Given the description of an element on the screen output the (x, y) to click on. 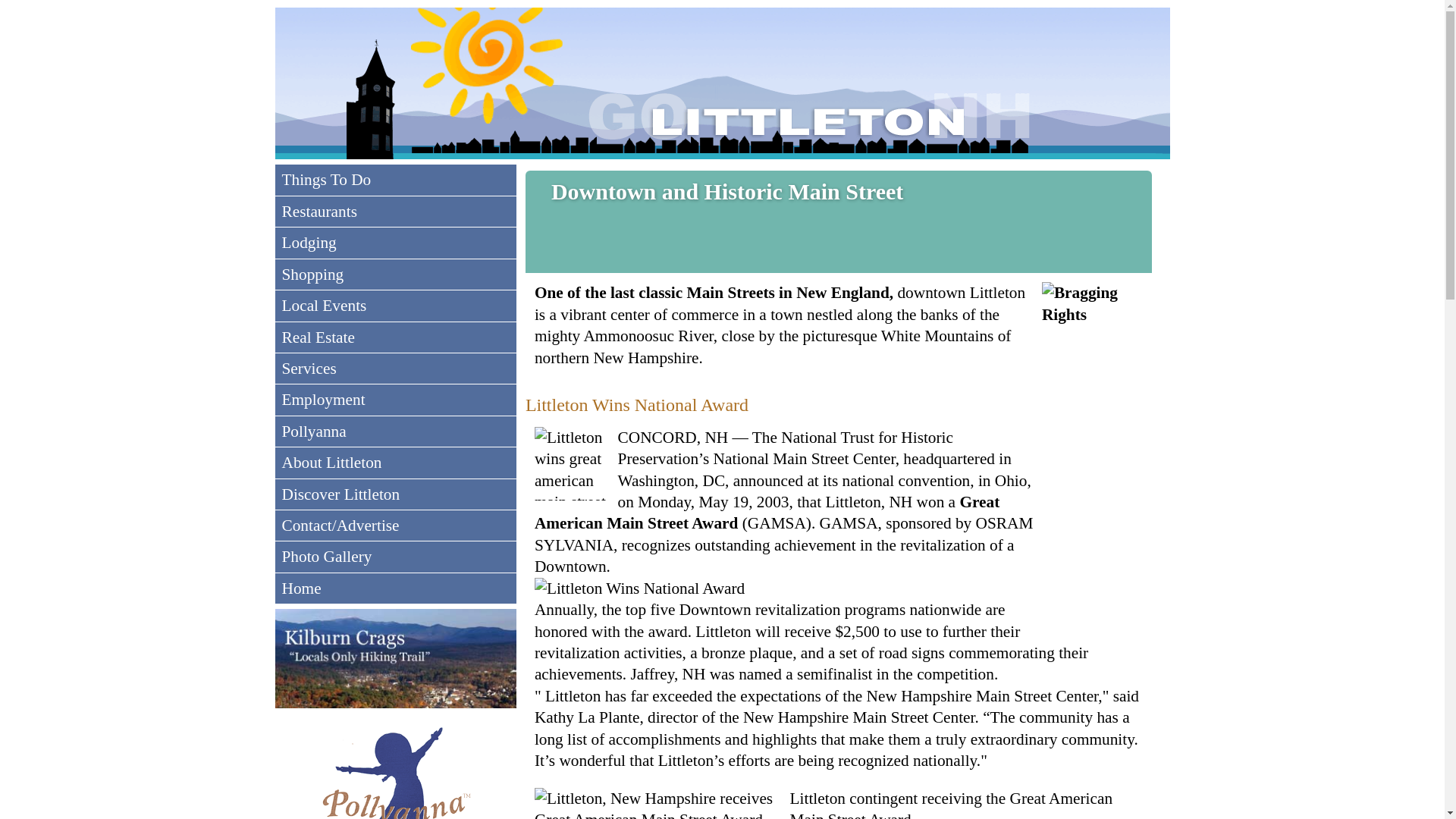
Services in Littleton, NH (395, 368)
Local Events (395, 305)
Things To Do (395, 179)
Employment (395, 399)
Pollyanna of Littleton, NH (395, 431)
Shop Local (395, 274)
Shopping (395, 274)
Littleton Area Real Estate (395, 337)
Pollyanna (395, 431)
Employment in Littleton NH (395, 399)
